Given the description of an element on the screen output the (x, y) to click on. 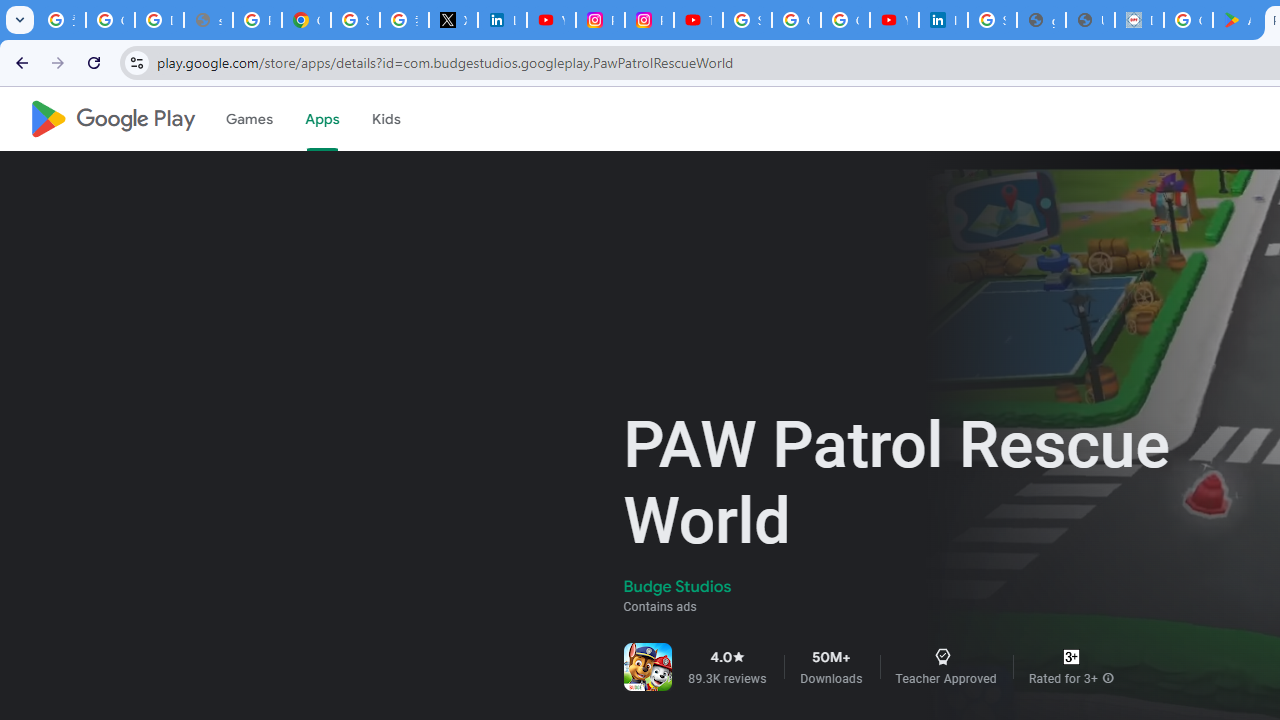
google_privacy_policy_en.pdf (1041, 20)
Content rating (1071, 656)
Kids (385, 119)
Data Privacy Framework (1138, 20)
LinkedIn Privacy Policy (502, 20)
Android Apps on Google Play (1237, 20)
Privacy Help Center - Policies Help (257, 20)
